Given the description of an element on the screen output the (x, y) to click on. 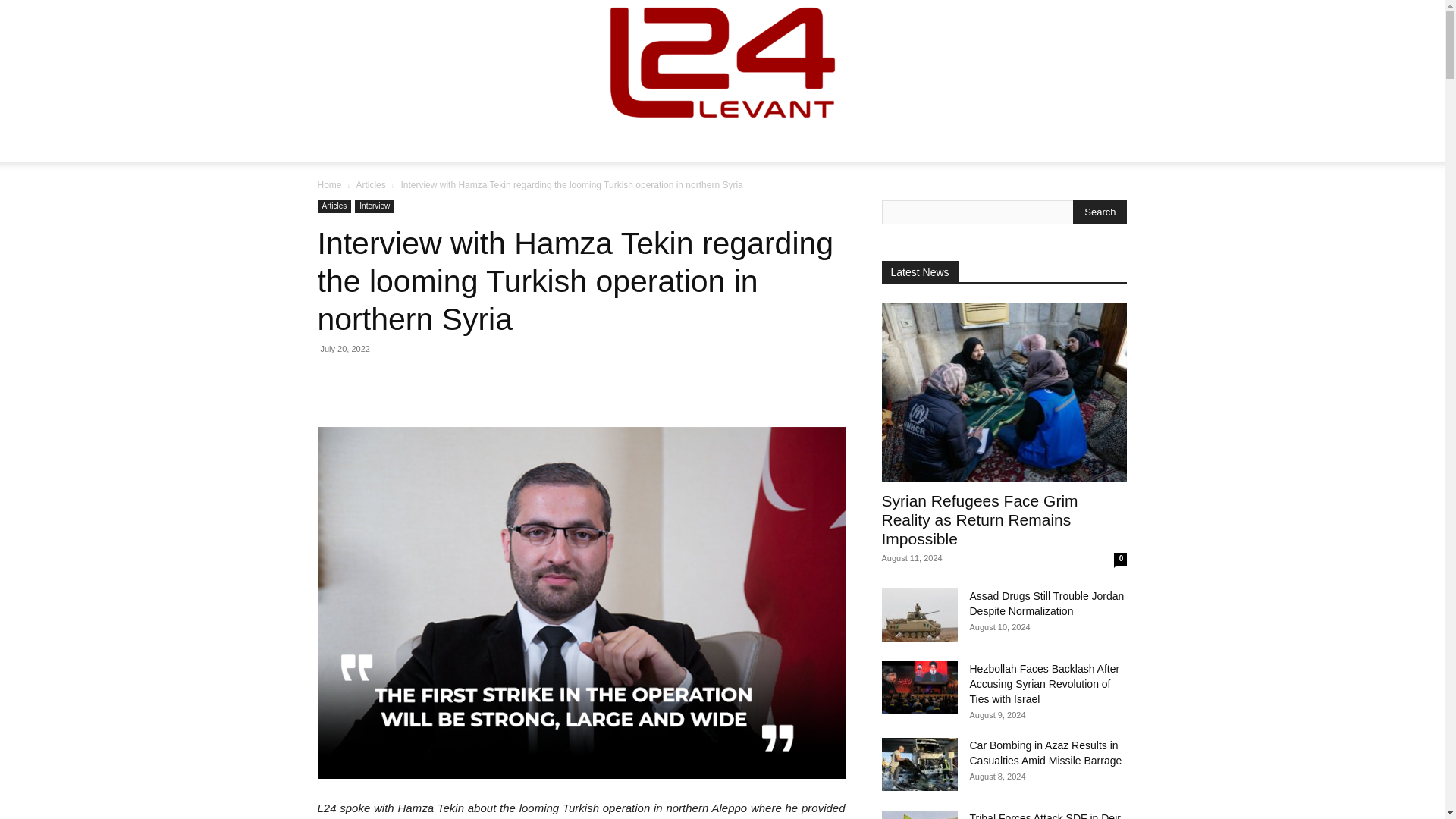
HOME (443, 143)
NEWS (500, 143)
INFOGRAPHICS (734, 143)
PODCAST (650, 143)
At The Heart Of It (721, 62)
RU (968, 143)
ISRAEL-PALESTINE CONFLICT (866, 143)
levant24 (722, 62)
Search (1099, 211)
ARTICLES (573, 143)
